Given the description of an element on the screen output the (x, y) to click on. 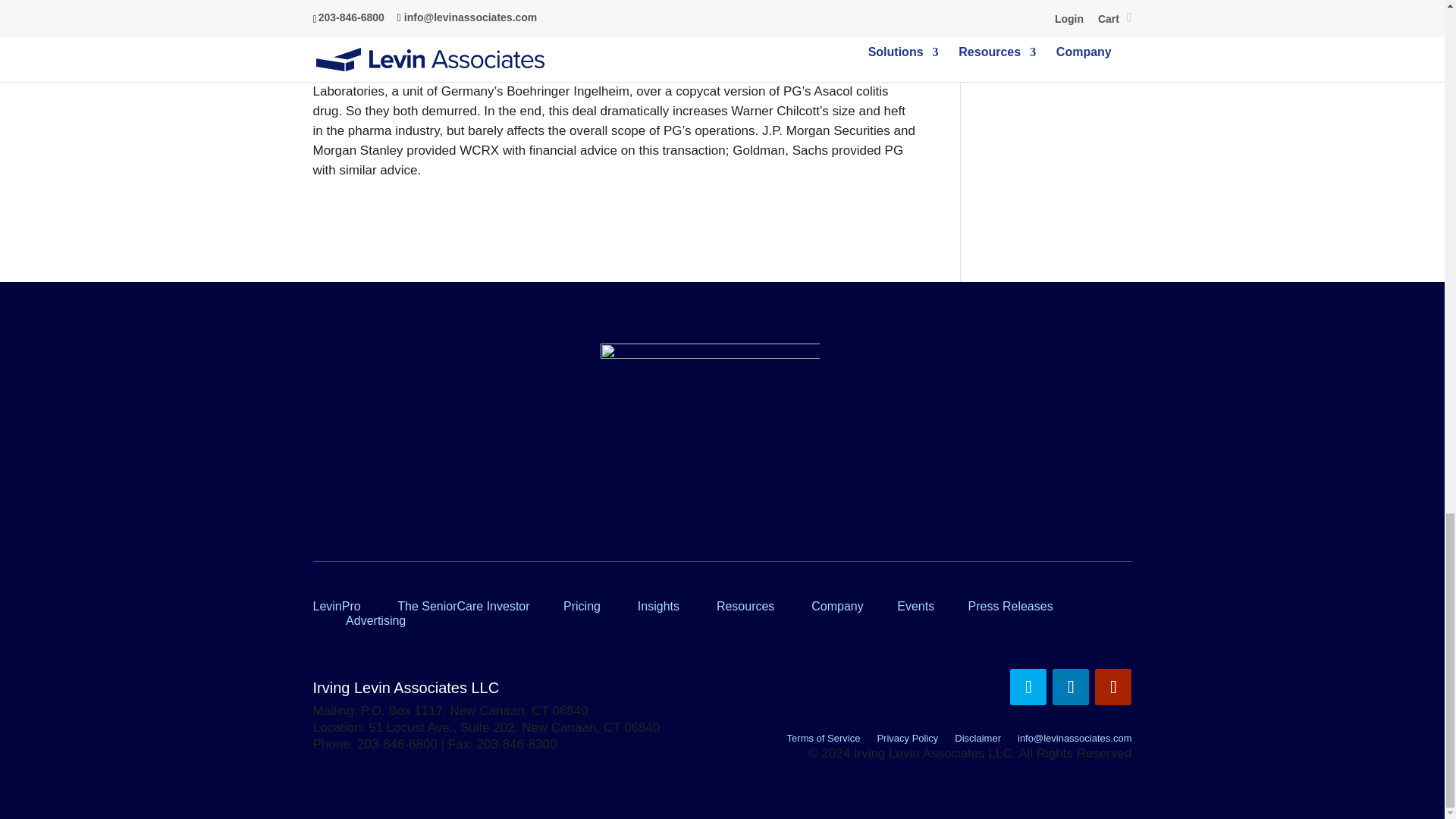
Company (836, 605)
Press Releases (1010, 605)
Advertising (376, 620)
Disclaimer (978, 740)
The SeniorCare Investor (463, 605)
Privacy Policy (906, 740)
Insights (658, 605)
Follow on Youtube (1112, 687)
LevinPro (336, 605)
Follow on Twitter (1028, 687)
